Given the description of an element on the screen output the (x, y) to click on. 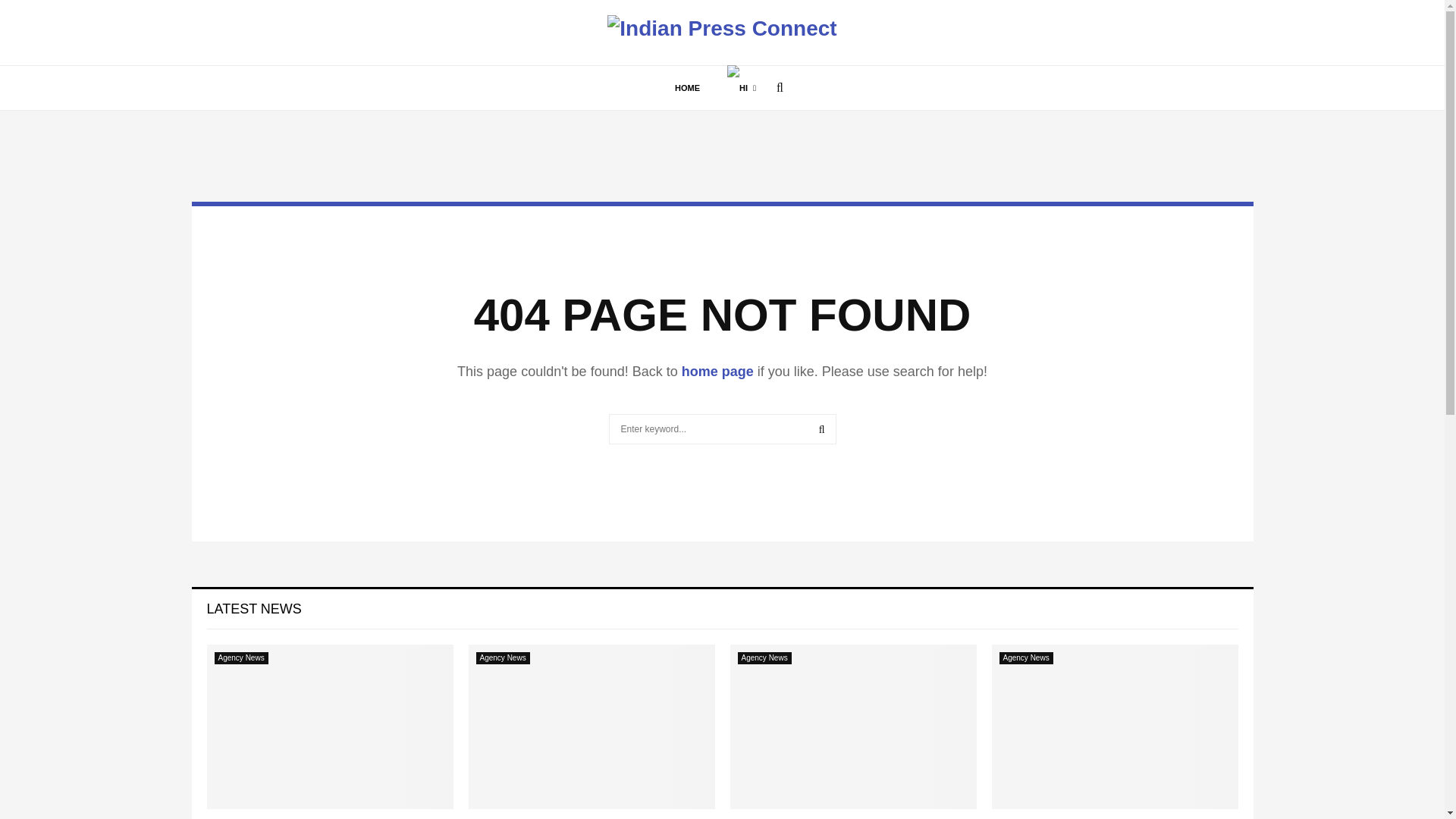
View all posts in Agency News (1025, 657)
HOME (687, 87)
SEARCH (821, 429)
home page (717, 371)
View all posts in Agency News (763, 657)
View all posts in Agency News (240, 657)
Agency News (1025, 657)
Agency News (240, 657)
LATEST NEWS (253, 608)
Agency News (763, 657)
Agency News (502, 657)
Latest News (253, 608)
